Given the description of an element on the screen output the (x, y) to click on. 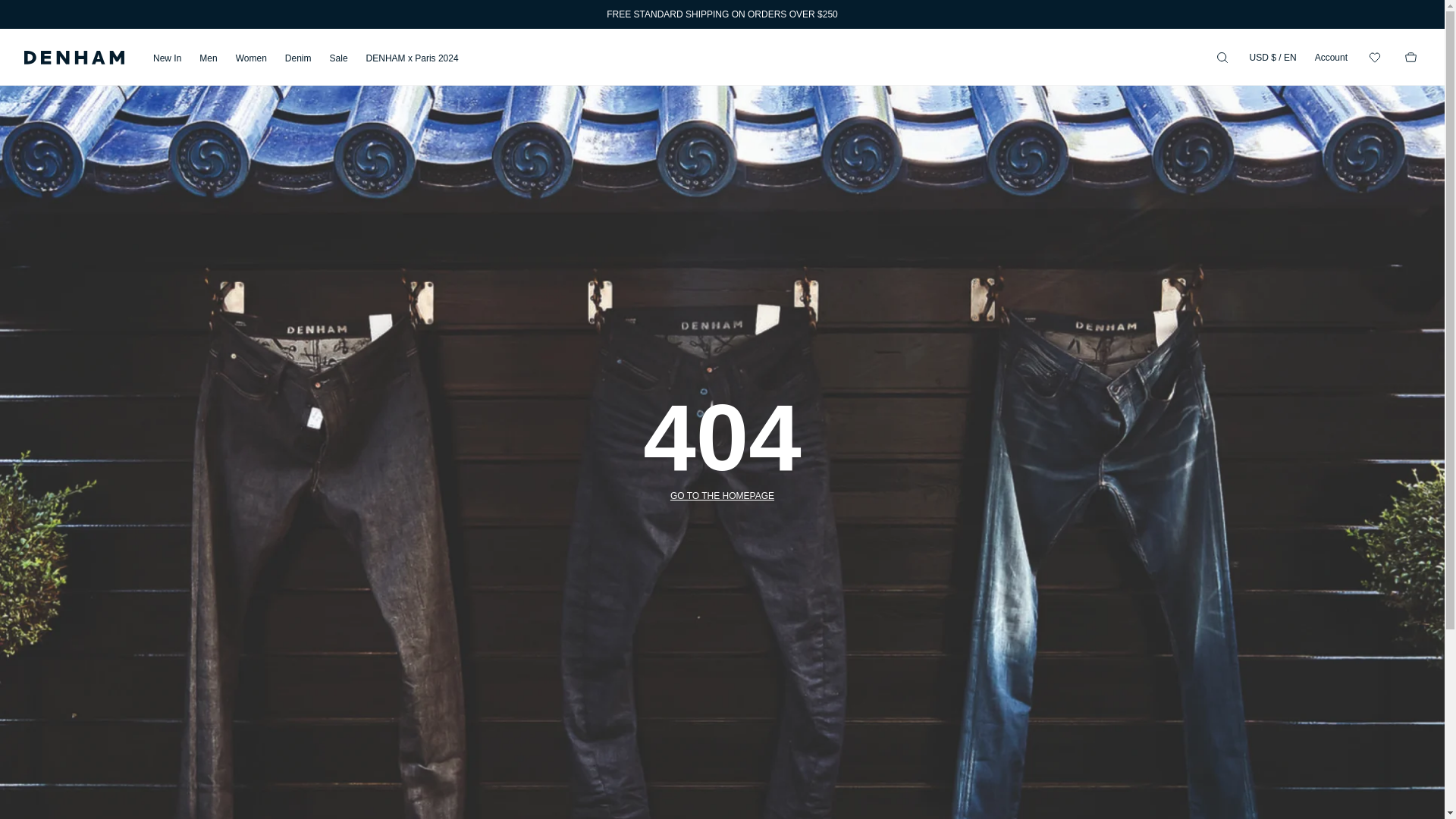
Sale (338, 58)
Women (250, 58)
Account (1331, 56)
New In (166, 58)
DENHAM x Paris 2024 (412, 58)
Denim (298, 58)
GO TO THE HOMEPAGE (722, 495)
Men (207, 58)
